Given the description of an element on the screen output the (x, y) to click on. 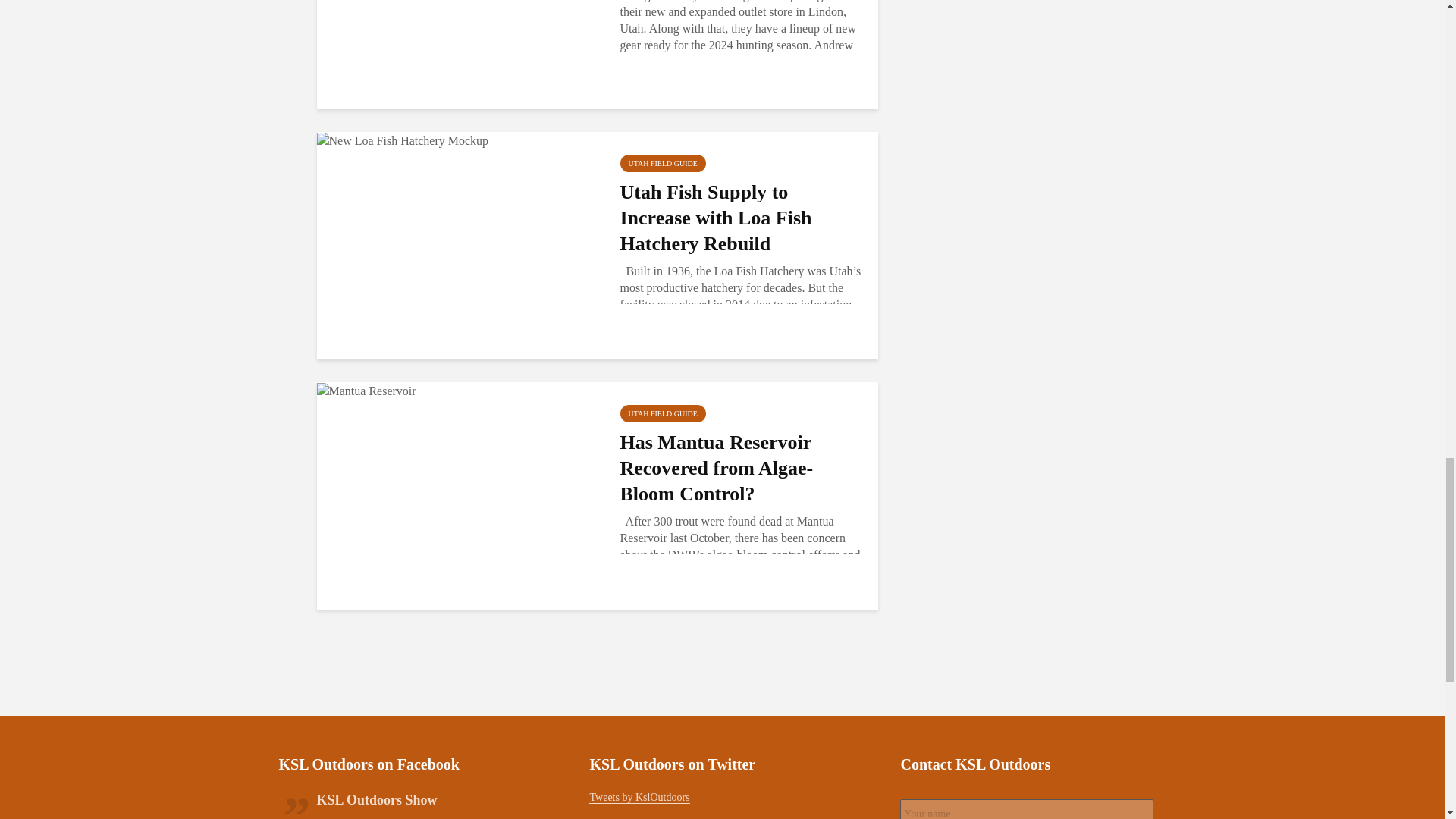
UTAH FIELD GUIDE (663, 413)
Utah Fish Supply to Increase with Loa Fish Hatchery Rebuild (740, 218)
Has Mantua Reservoir Recovered from Algae-Bloom Control? (366, 390)
Utah Fish Supply to Increase with Loa Fish Hatchery Rebuild (403, 139)
UTAH FIELD GUIDE (663, 162)
